Given the description of an element on the screen output the (x, y) to click on. 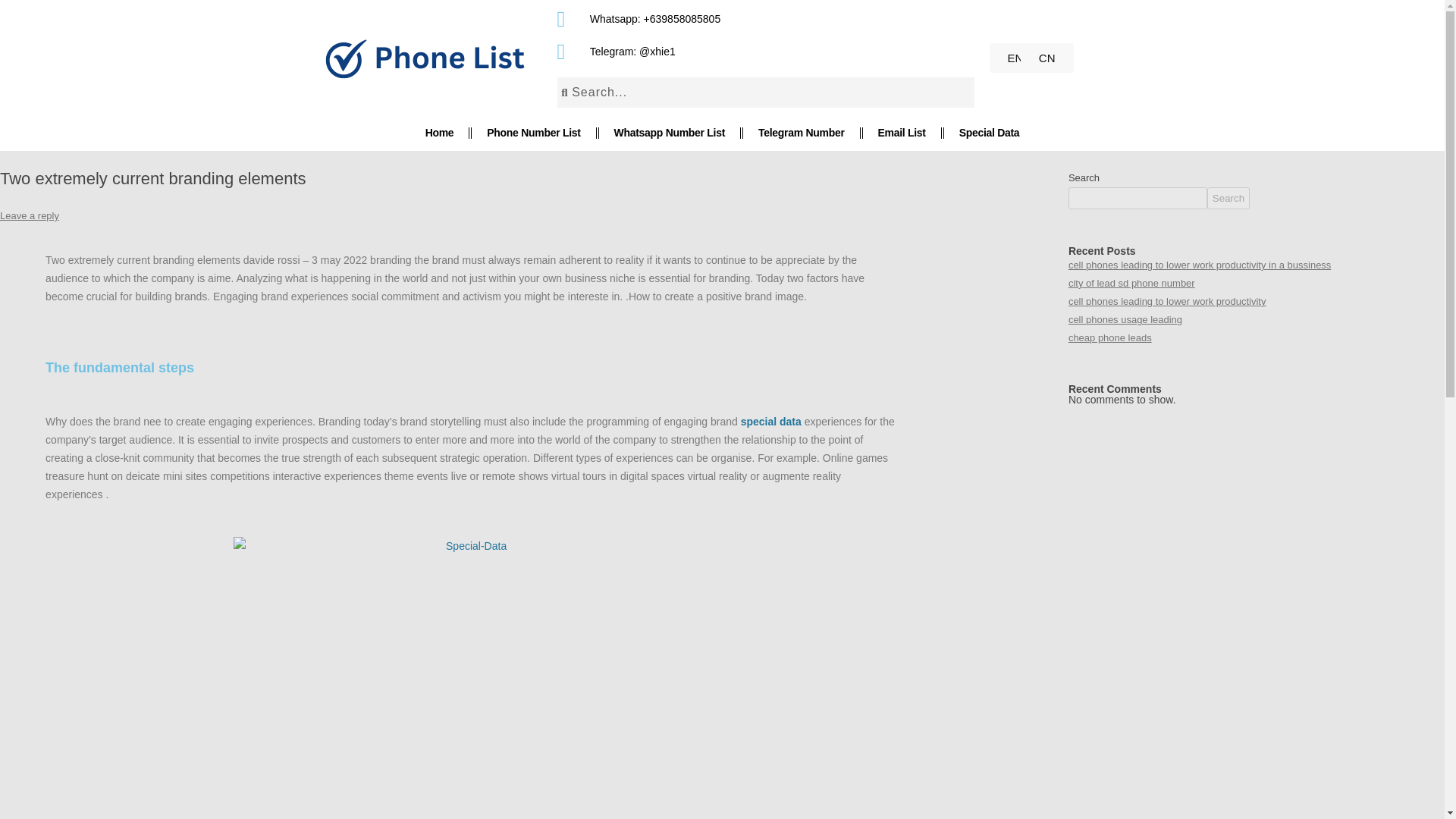
cell phones usage leading (1125, 319)
Search (1228, 198)
Home (428, 132)
Special Data (999, 132)
Email List (908, 132)
Telegram Number (802, 132)
EN (1014, 57)
special data (771, 421)
CN (1047, 57)
Leave a reply (29, 215)
Whatsapp Number List (664, 132)
cheap phone leads (1109, 337)
city of lead sd phone number (1131, 283)
Phone Number List (524, 132)
